Given the description of an element on the screen output the (x, y) to click on. 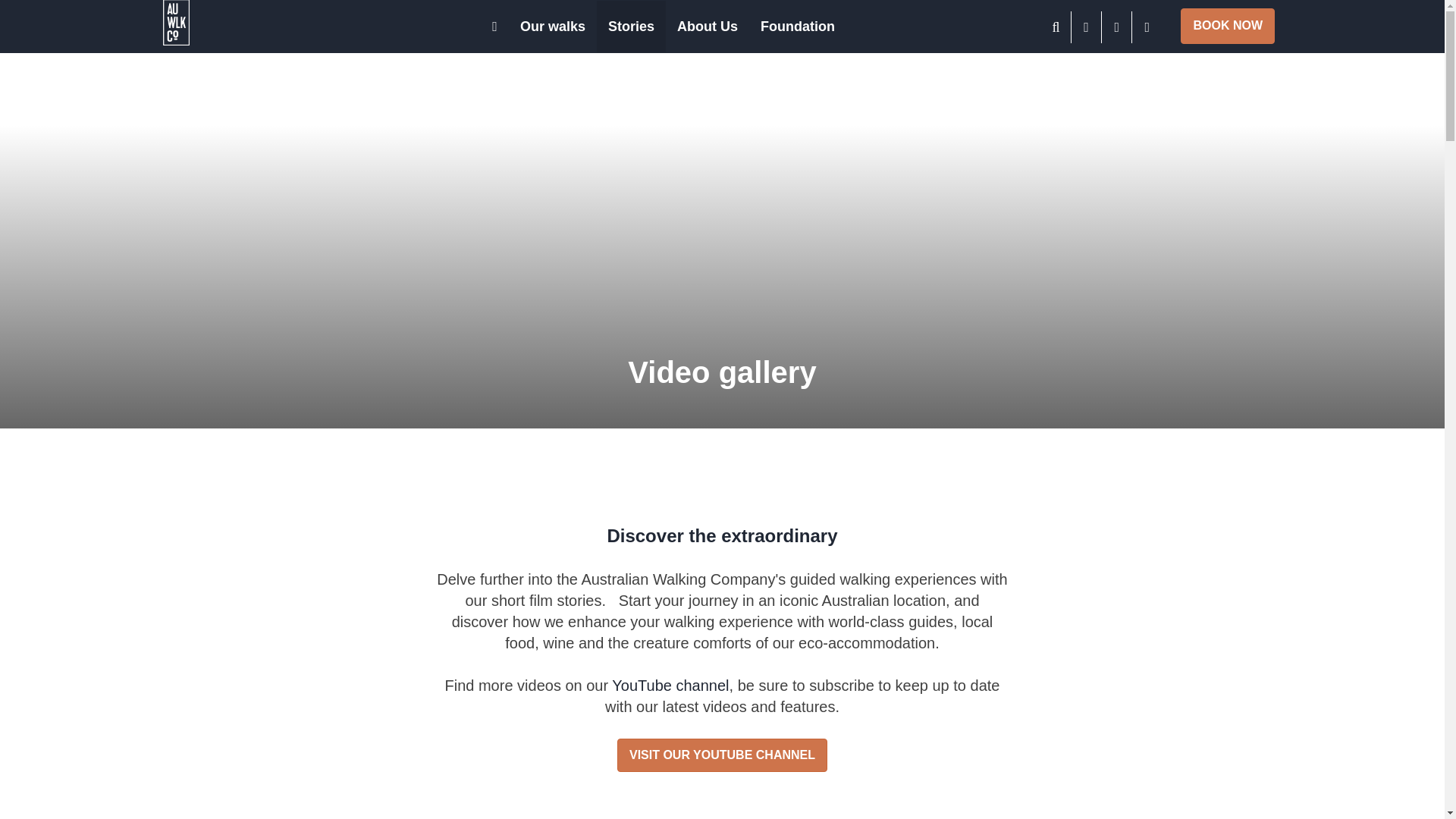
Search (1056, 27)
Our walks (552, 26)
Call (1146, 27)
Tripadvisor (1117, 27)
Australian Walking Company (219, 22)
Tasmanian Walking Company Foundation (797, 26)
Facebook (1086, 27)
